Given the description of an element on the screen output the (x, y) to click on. 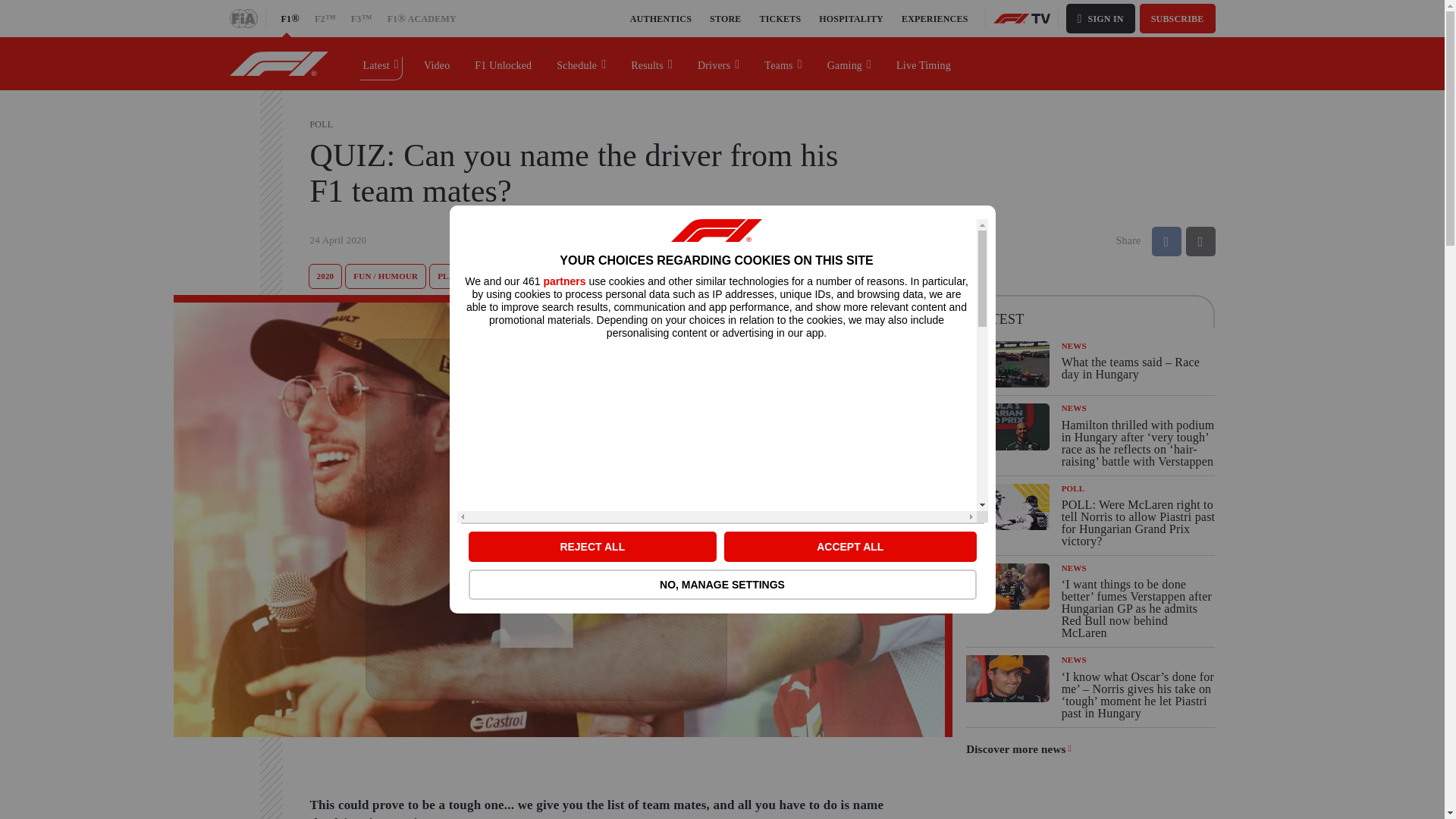
Live Timing (923, 63)
Gaming (849, 63)
Teams (782, 63)
HOSPITALITY (850, 18)
SUBSCRIBE (1177, 18)
PLAY (448, 276)
AUTHENTICS (660, 18)
Results (651, 63)
Discover more news (1018, 748)
F1 Unlocked (503, 63)
Latest (380, 63)
SIGN IN (1100, 18)
QUIZ (491, 276)
EXPERIENCES (934, 18)
